Given the description of an element on the screen output the (x, y) to click on. 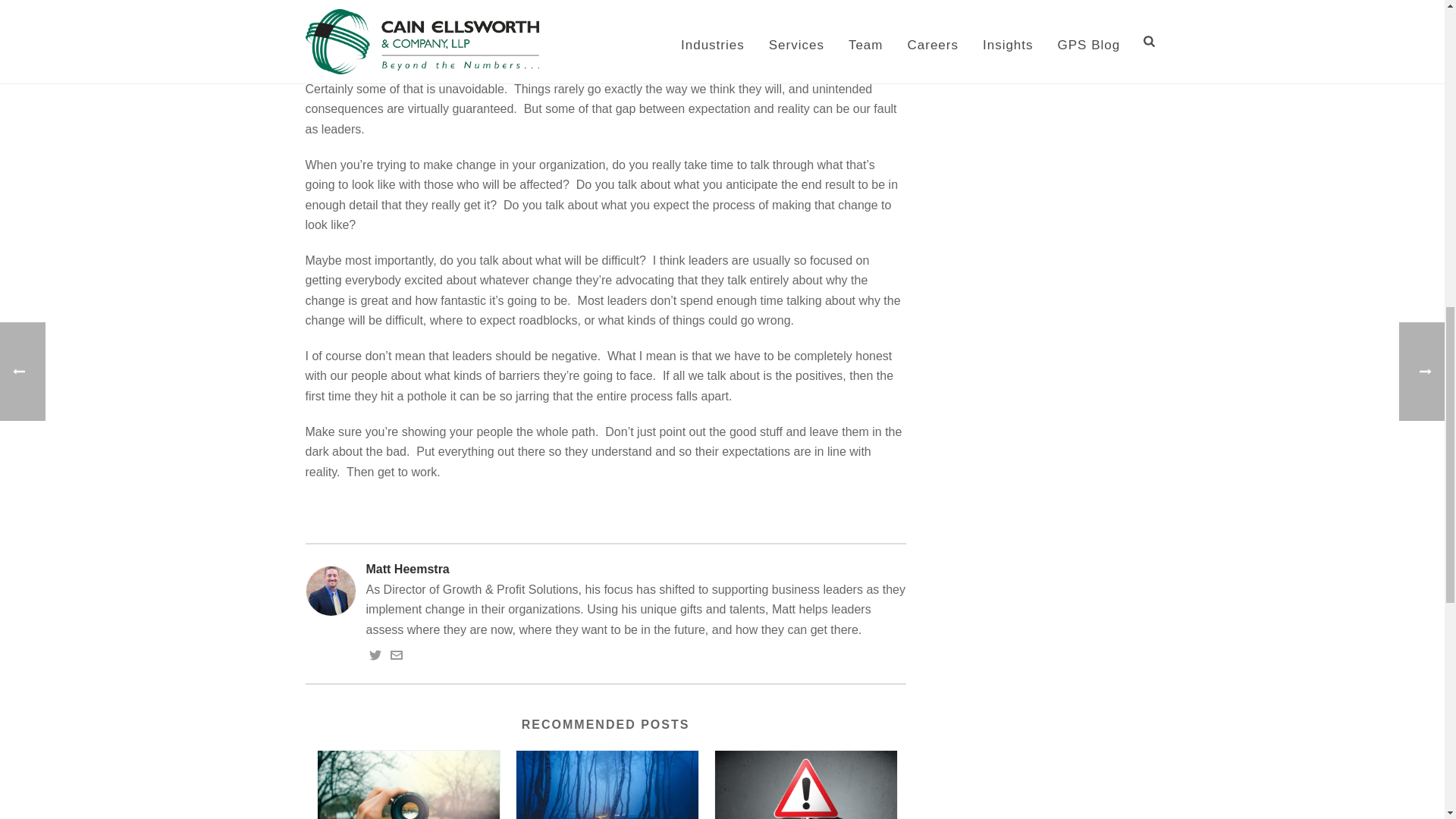
Make Your Own Road (607, 785)
More Attitude (805, 785)
Your Best Thing (408, 785)
Get in touch with me via email (396, 656)
Follow me on Twitter (374, 656)
